Given the description of an element on the screen output the (x, y) to click on. 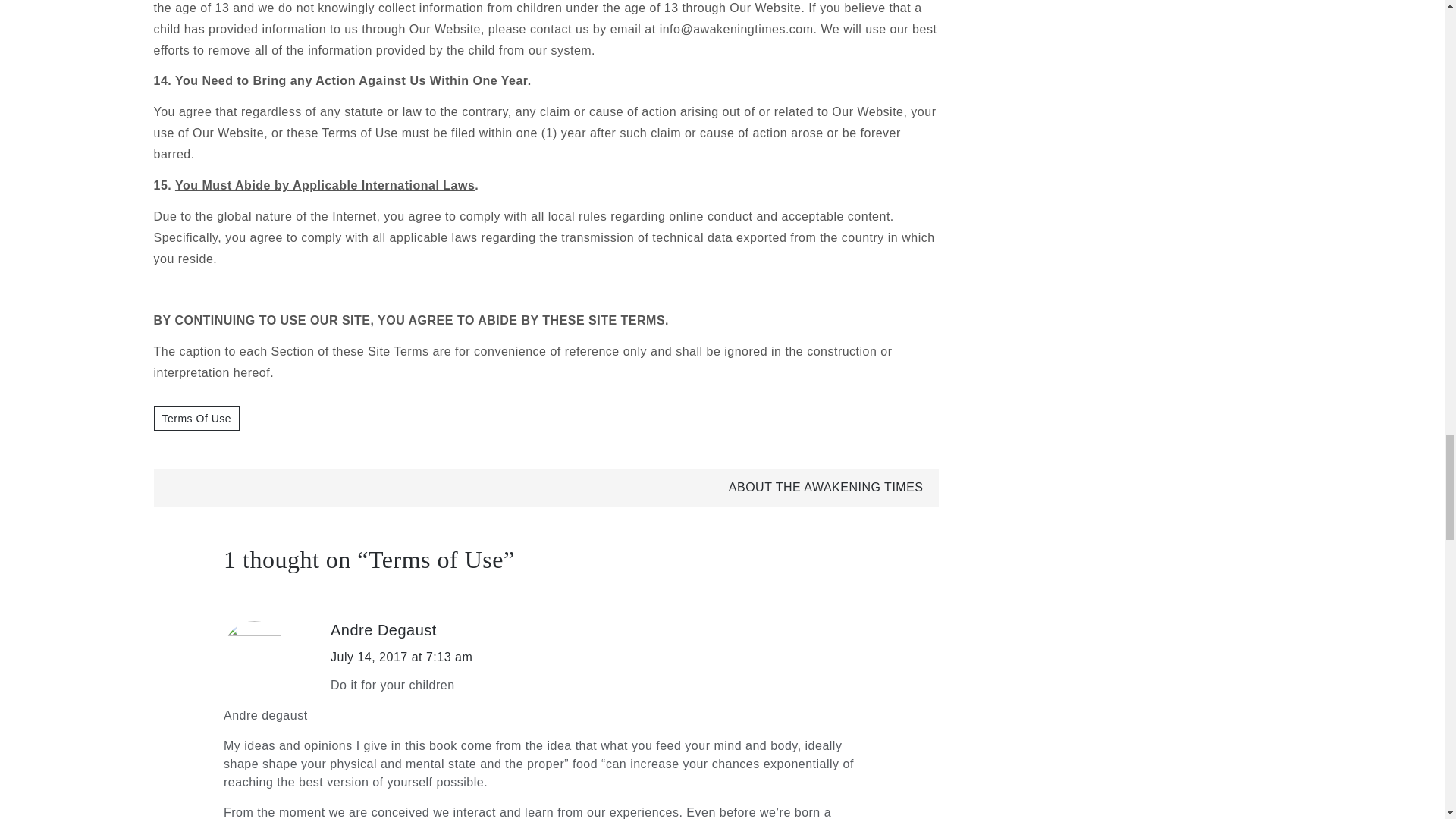
July 14, 2017 at 7:13 am (400, 656)
ABOUT THE AWAKENING TIMES (826, 486)
Terms Of Use (196, 418)
